Given the description of an element on the screen output the (x, y) to click on. 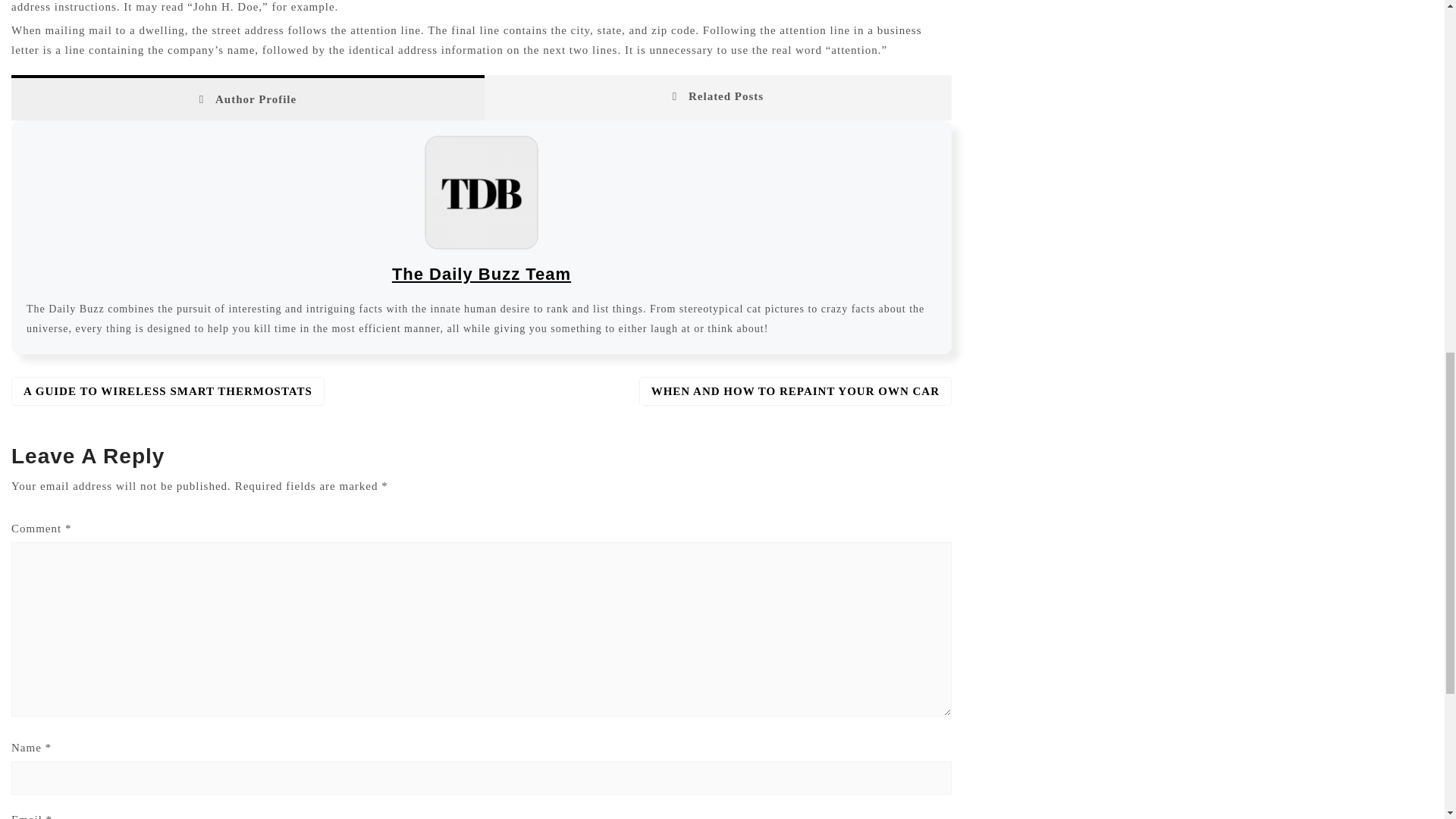
A GUIDE TO WIRELESS SMART THERMOSTATS (167, 390)
The Daily Buzz Team (480, 272)
WHEN AND HOW TO REPAINT YOUR OWN CAR (795, 390)
